Given the description of an element on the screen output the (x, y) to click on. 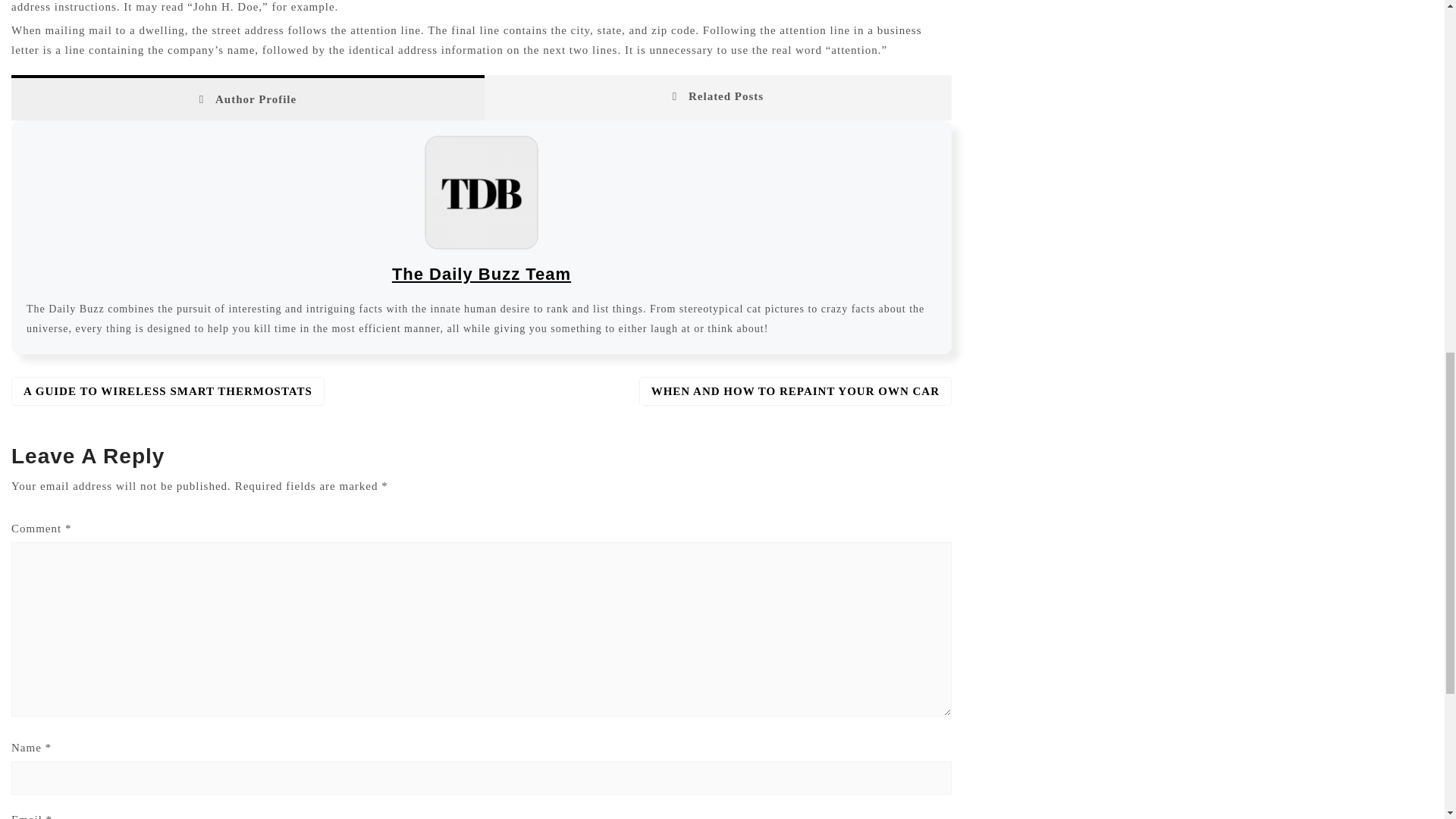
A GUIDE TO WIRELESS SMART THERMOSTATS (167, 390)
The Daily Buzz Team (480, 272)
WHEN AND HOW TO REPAINT YOUR OWN CAR (795, 390)
